Given the description of an element on the screen output the (x, y) to click on. 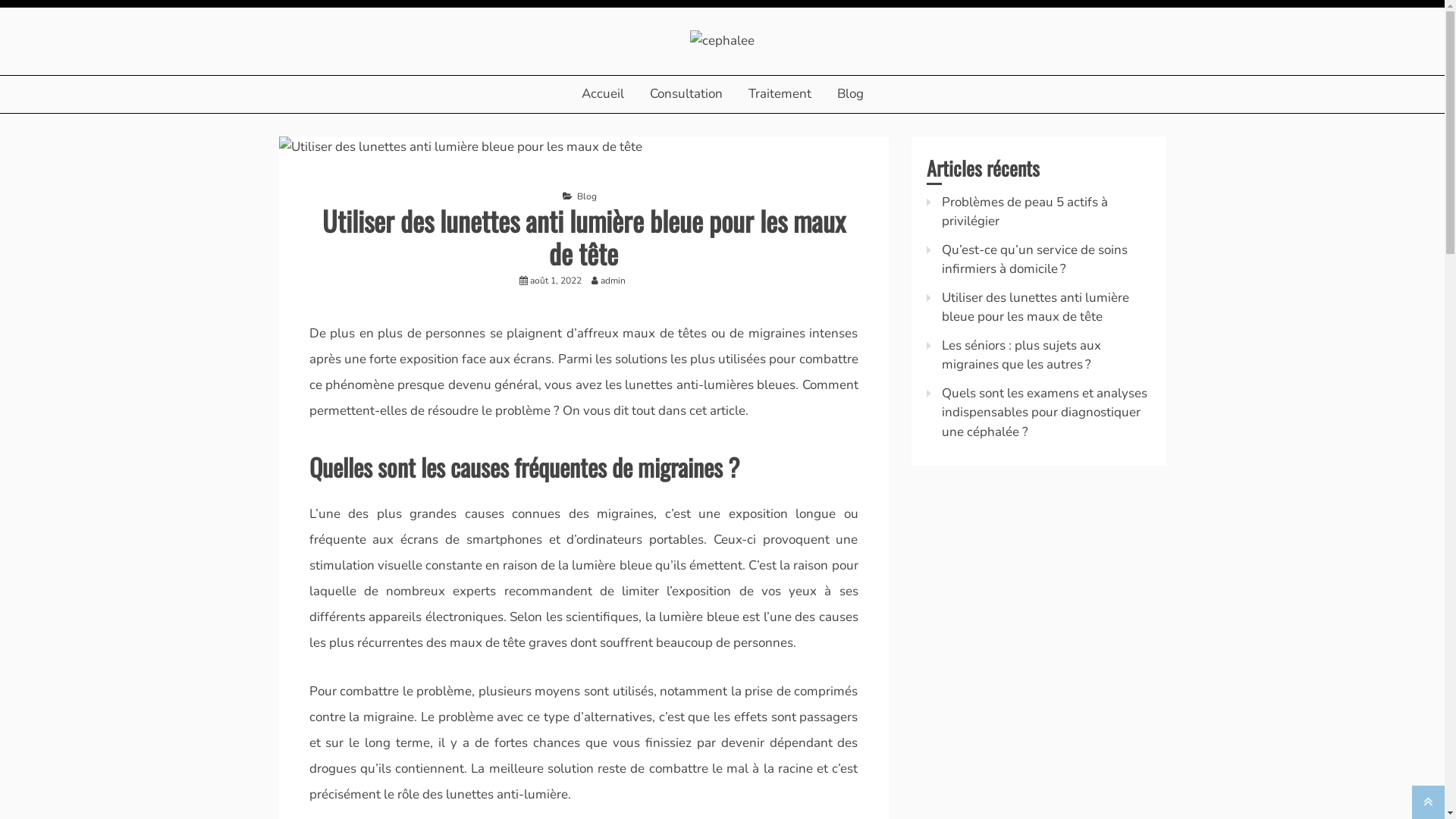
Accueil Element type: text (602, 93)
Traitement Element type: text (779, 93)
admin Element type: text (616, 280)
Blog Element type: text (849, 93)
Consultation Element type: text (686, 93)
Blog Element type: text (586, 196)
